Given the description of an element on the screen output the (x, y) to click on. 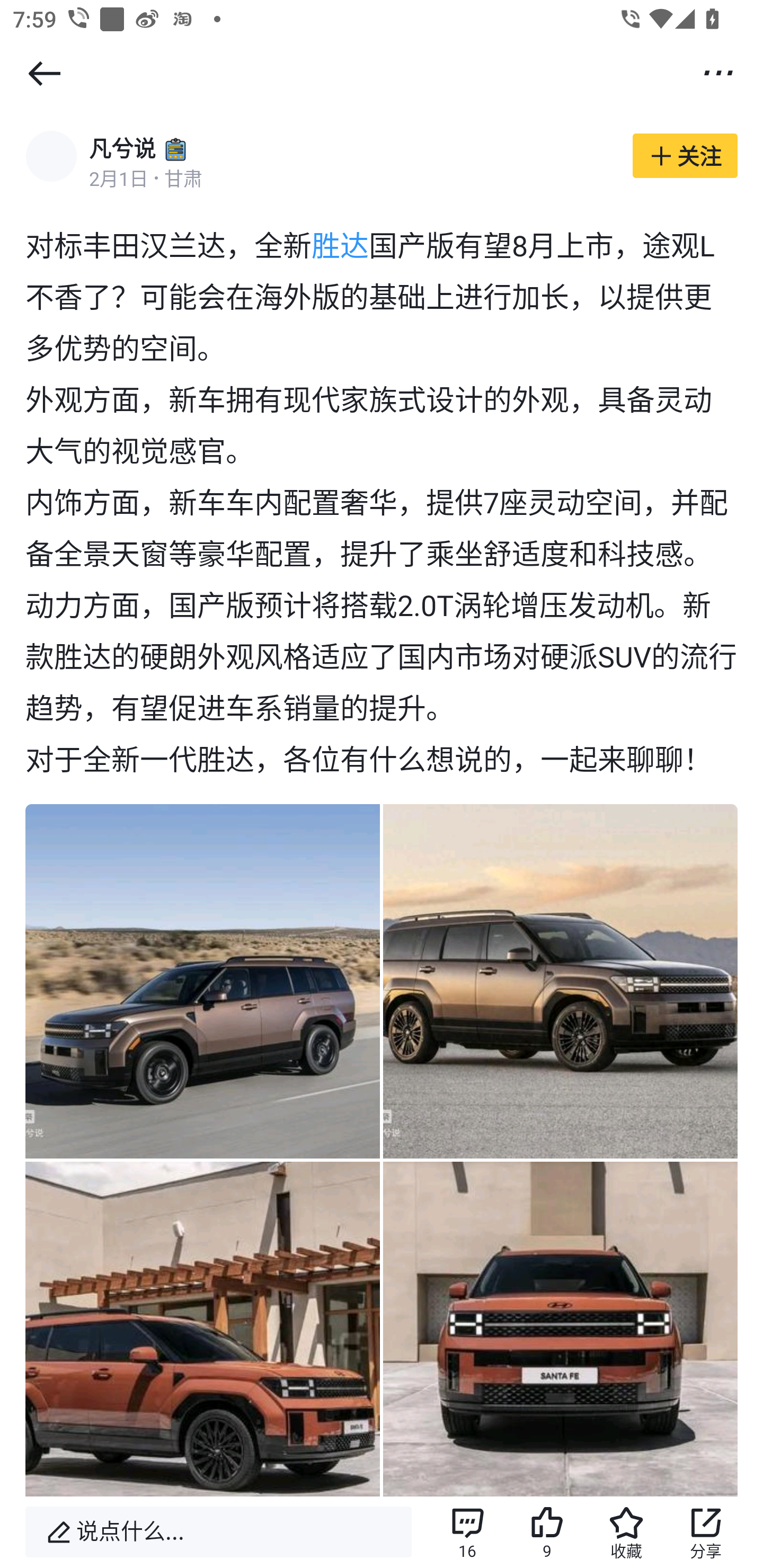
 (718, 71)
 (44, 73)
凡兮说 (122, 148)
 关注 (684, 155)
 16 (467, 1531)
9 (546, 1531)
收藏 (625, 1531)
 分享 (705, 1531)
 说点什么... (218, 1531)
